Given the description of an element on the screen output the (x, y) to click on. 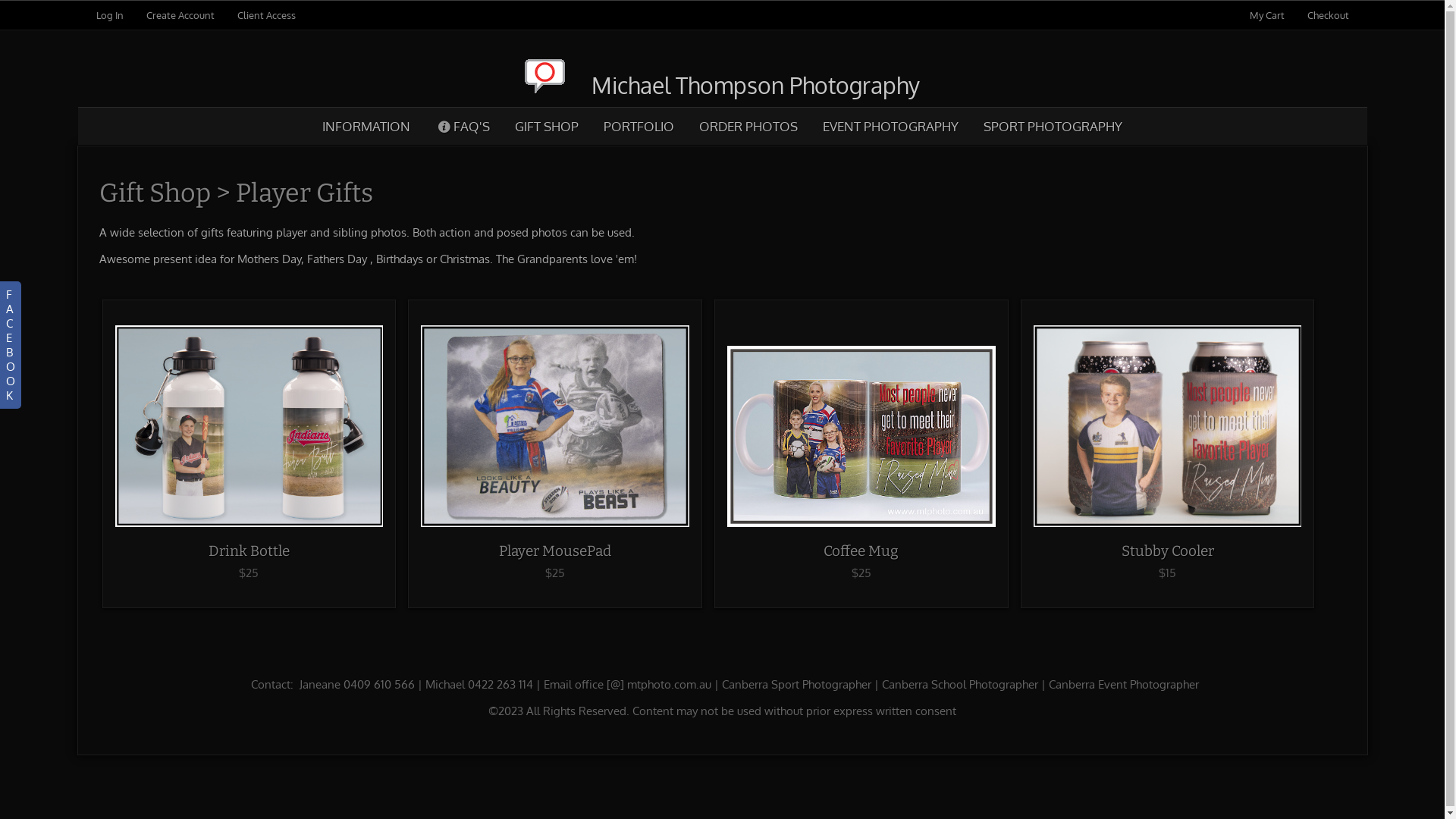
Client Access Element type: text (265, 15)
INFORMATION Element type: text (366, 125)
PORTFOLIO Element type: text (638, 125)
GIFT SHOP Element type: text (546, 125)
Log In Element type: text (108, 15)
FAQ'S Element type: text (462, 125)
EVENT PHOTOGRAPHY Element type: text (889, 125)
Stubby Cooler Element type: text (1167, 550)
Gift Shop Element type: text (154, 192)
My Cart Element type: text (1267, 15)
Coffee Mug Element type: text (860, 550)
Drink Bottle Element type: text (248, 550)
Player Gifts Element type: text (303, 192)
Checkout Element type: text (1328, 15)
SPORT PHOTOGRAPHY Element type: text (1052, 125)
ORDER PHOTOS Element type: text (747, 125)
    Michael Thompson Photography Element type: text (721, 84)
Player MousePad Element type: text (554, 550)
Create Account Element type: text (179, 15)
